Given the description of an element on the screen output the (x, y) to click on. 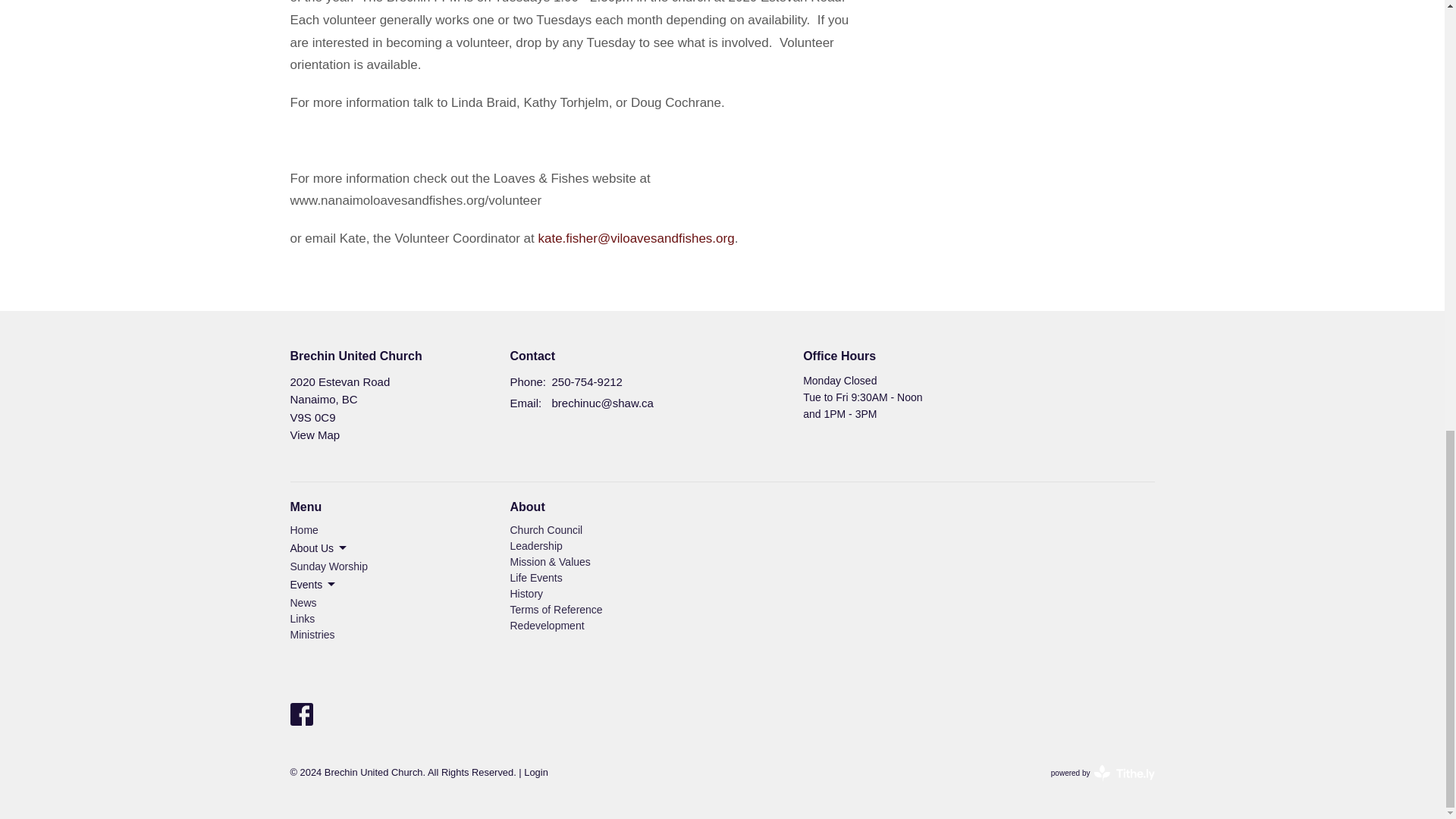
View Map (314, 434)
translation missing: en.ui.email (523, 402)
About Us (319, 548)
250-754-9212 (587, 381)
Home (303, 530)
